Given the description of an element on the screen output the (x, y) to click on. 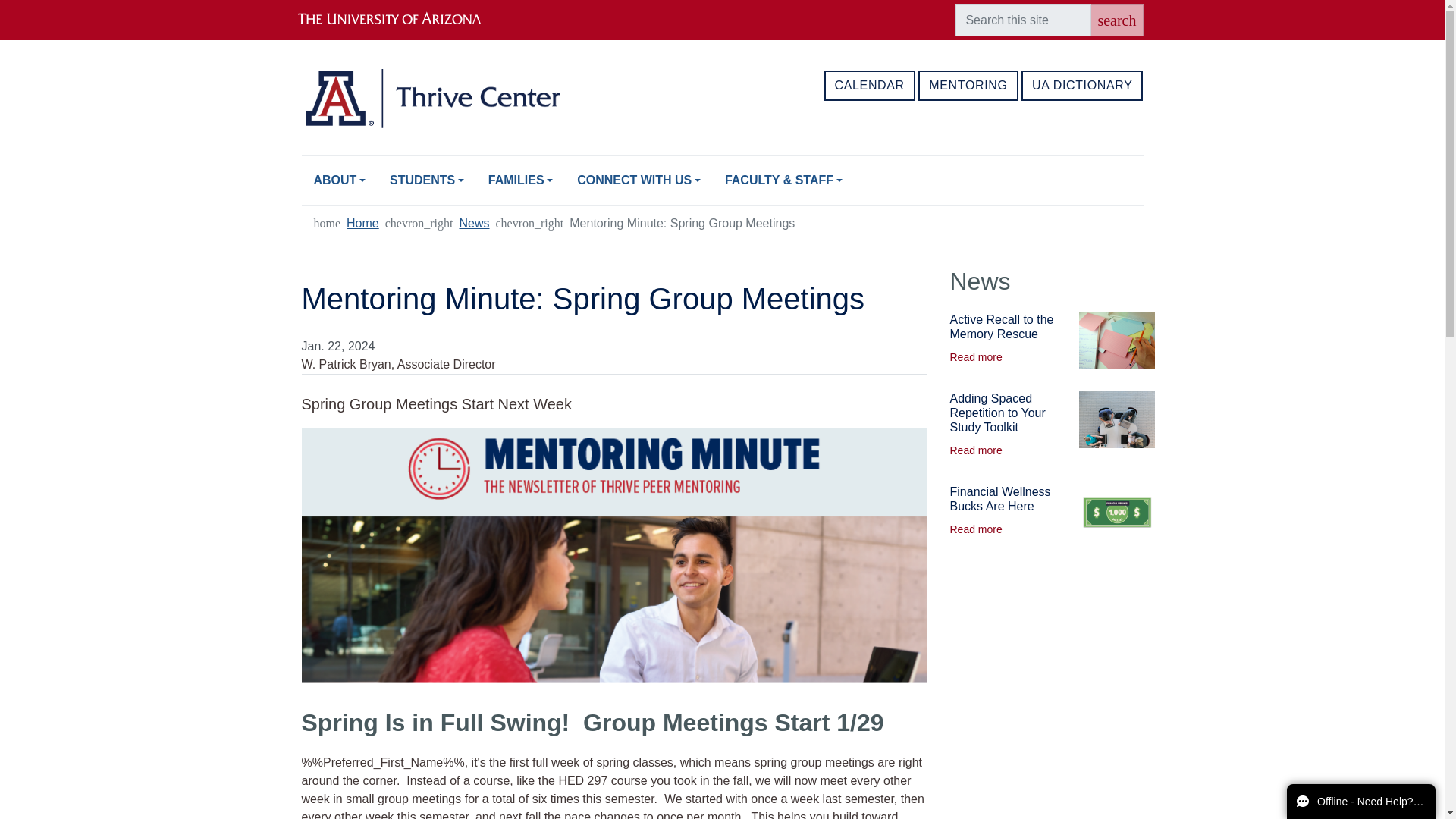
ABOUT (339, 180)
MENTORING (967, 85)
Skip to main content (721, 1)
CONNECT WITH US (638, 180)
The University of Arizona homepage (401, 20)
UA DICTIONARY (1082, 85)
CALENDAR (869, 85)
Home (362, 223)
STUDENTS (426, 180)
FAMILIES (520, 180)
Enter the terms you wish to search for. (1022, 20)
search (1116, 20)
